Given the description of an element on the screen output the (x, y) to click on. 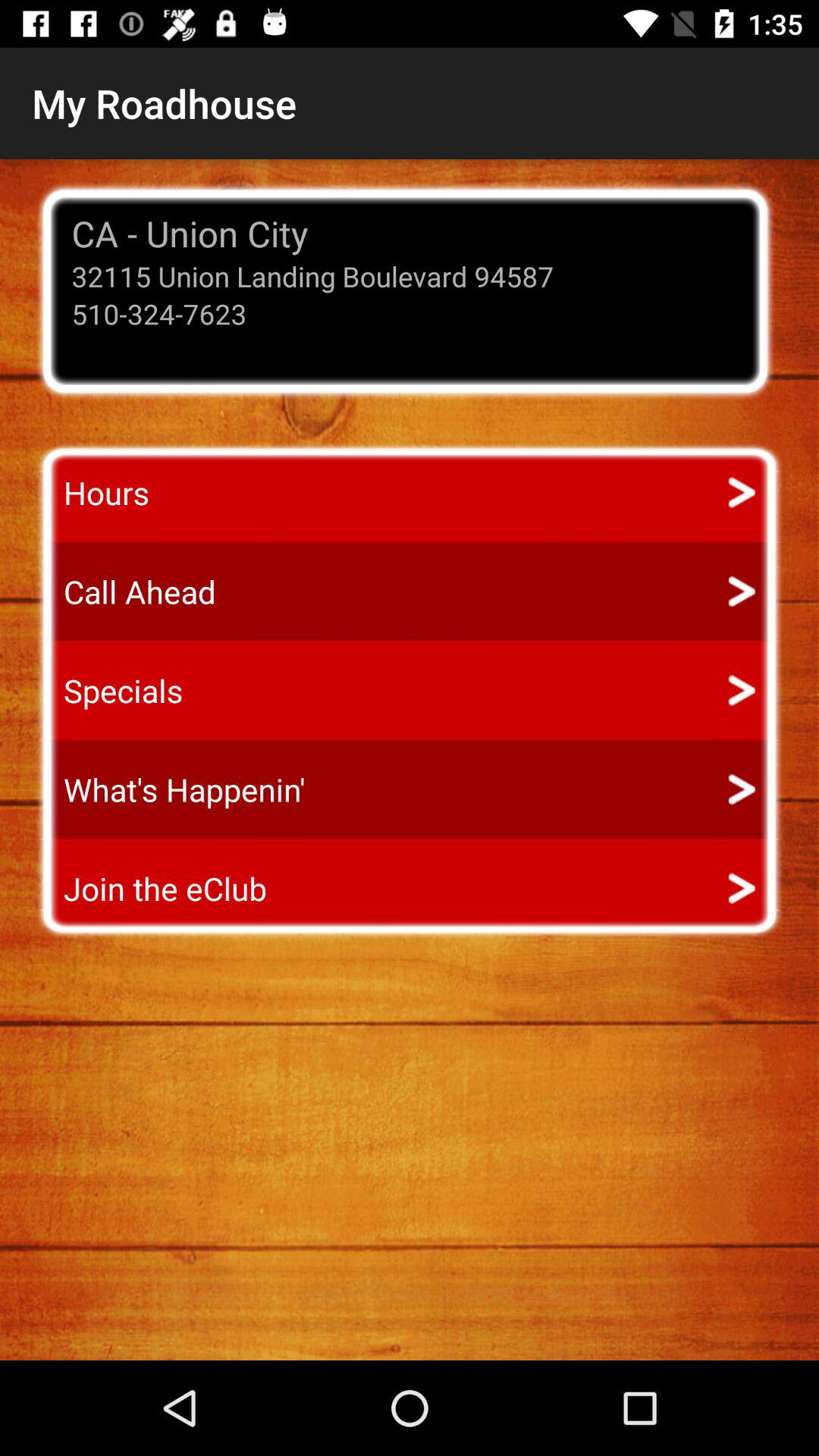
tap the what's happenin' item (170, 789)
